Given the description of an element on the screen output the (x, y) to click on. 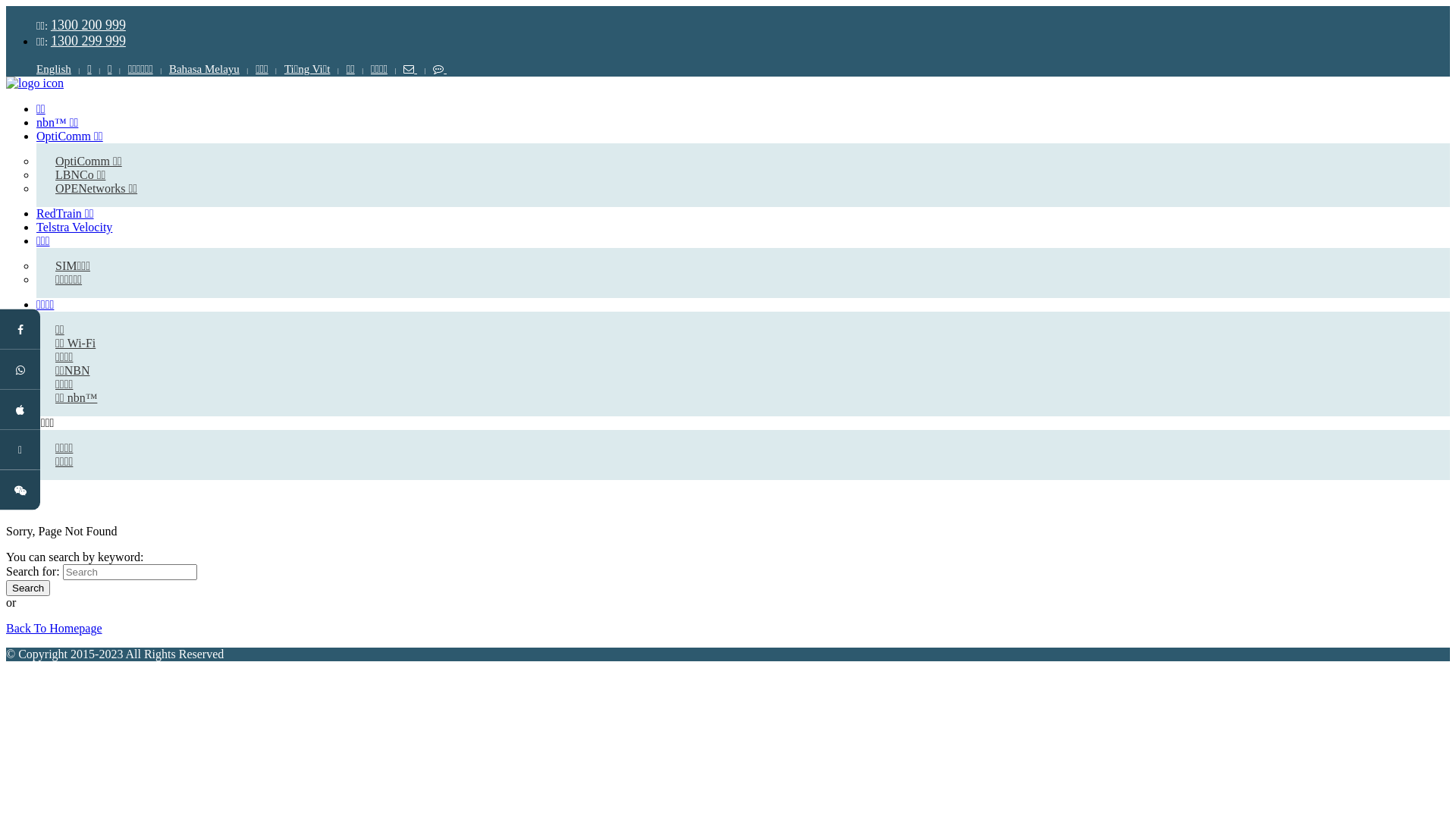
Telstra Velocity Element type: text (74, 226)
Search for: Element type: hover (129, 572)
English Element type: text (53, 68)
chat Element type: hover (434, 68)
1300 200 999 Element type: text (87, 24)
Back To Homepage Element type: text (54, 627)
Bahasa Melayu Element type: text (199, 68)
Facebook Messenger Element type: text (104, 336)
1300 299 999 Element type: text (87, 40)
email Element type: hover (405, 68)
  Element type: text (434, 68)
Messages Element type: text (100, 416)
Line Element type: text (100, 456)
Search Element type: text (28, 588)
  Element type: text (405, 68)
WhatsApp Element type: text (100, 375)
